Given the description of an element on the screen output the (x, y) to click on. 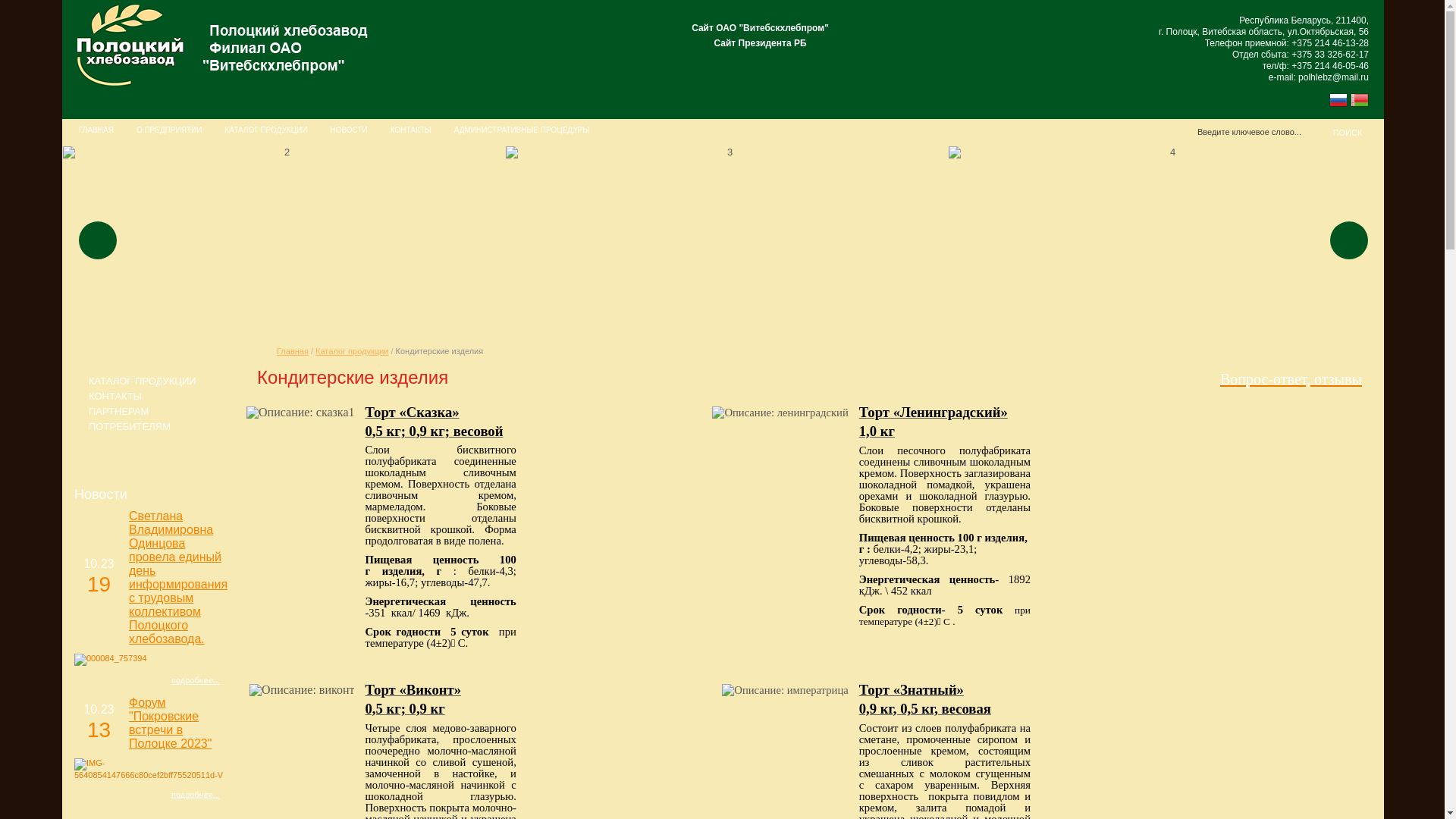
Previous Element type: text (97, 240)
Next Element type: text (1349, 240)
